Given the description of an element on the screen output the (x, y) to click on. 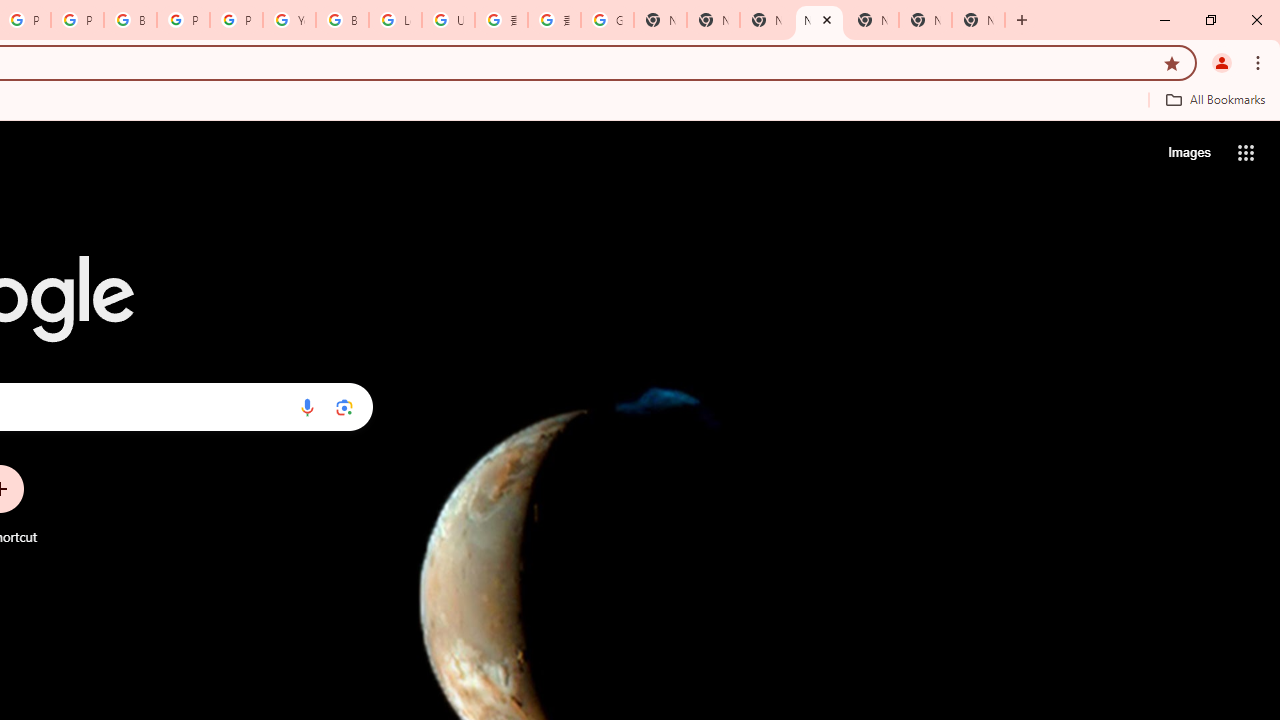
New Tab (978, 20)
Privacy Help Center - Policies Help (77, 20)
YouTube (289, 20)
Google Images (607, 20)
